Given the description of an element on the screen output the (x, y) to click on. 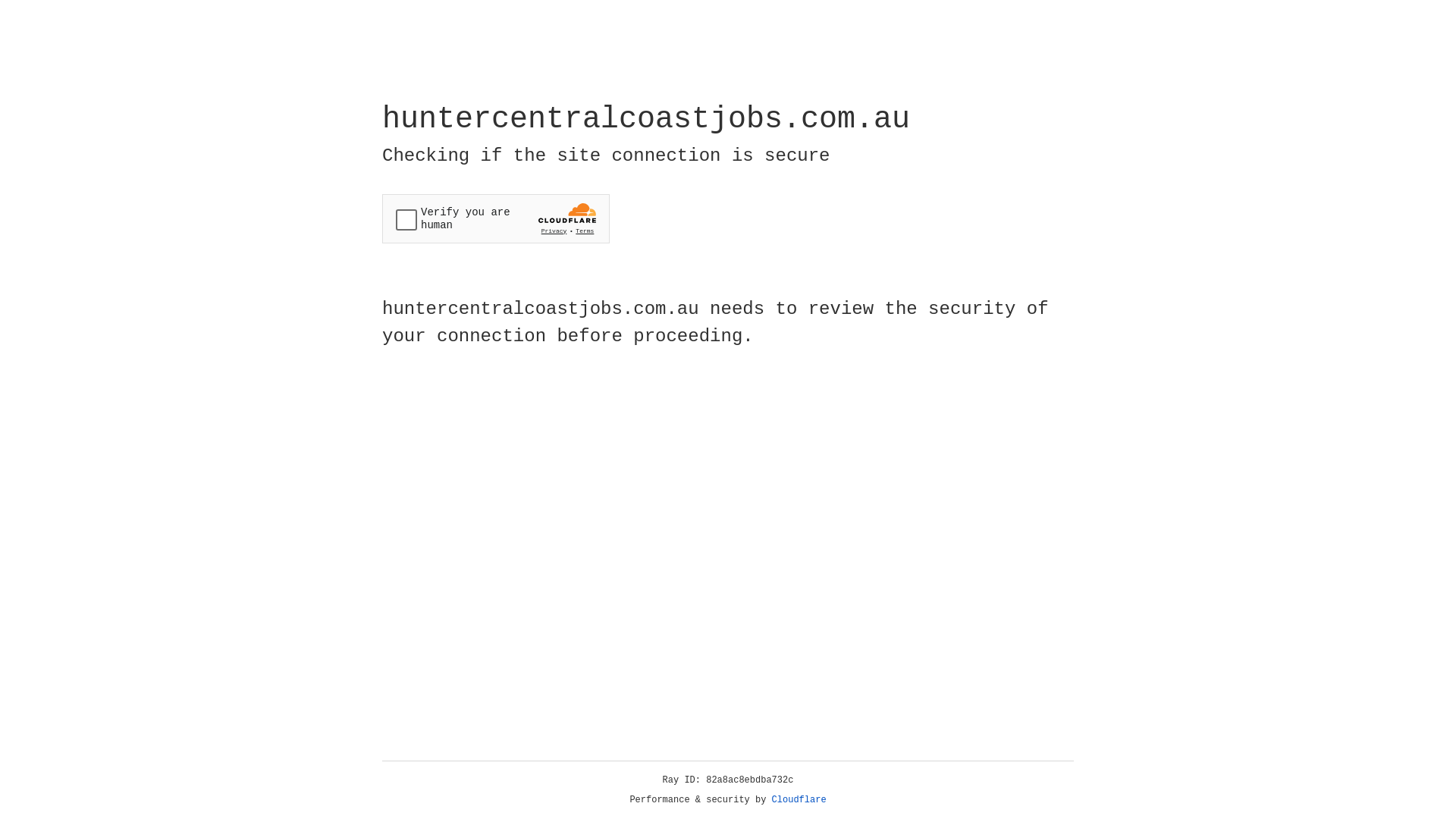
Cloudflare Element type: text (798, 799)
Widget containing a Cloudflare security challenge Element type: hover (495, 218)
